Given the description of an element on the screen output the (x, y) to click on. 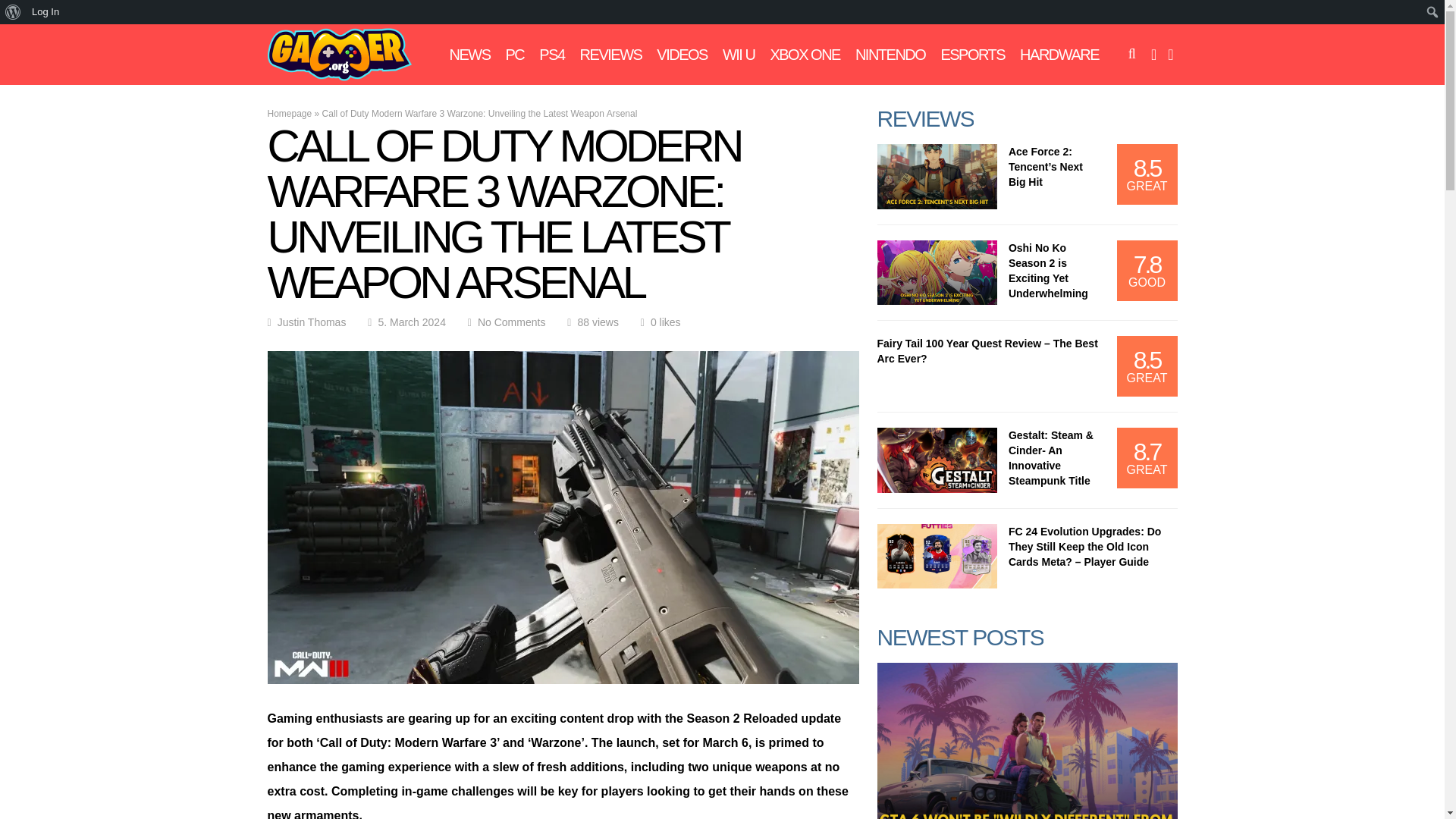
HARDWARE (1059, 54)
REVIEWS (610, 54)
XBOX ONE (805, 54)
PC (514, 54)
VIDEOS (681, 54)
NINTENDO (890, 54)
WII U (738, 54)
PS4 (551, 54)
No Comments (510, 322)
Homepage (288, 113)
gamer.org (338, 77)
Justin Thomas (312, 322)
NEWS (468, 54)
ESPORTS (972, 54)
